Given the description of an element on the screen output the (x, y) to click on. 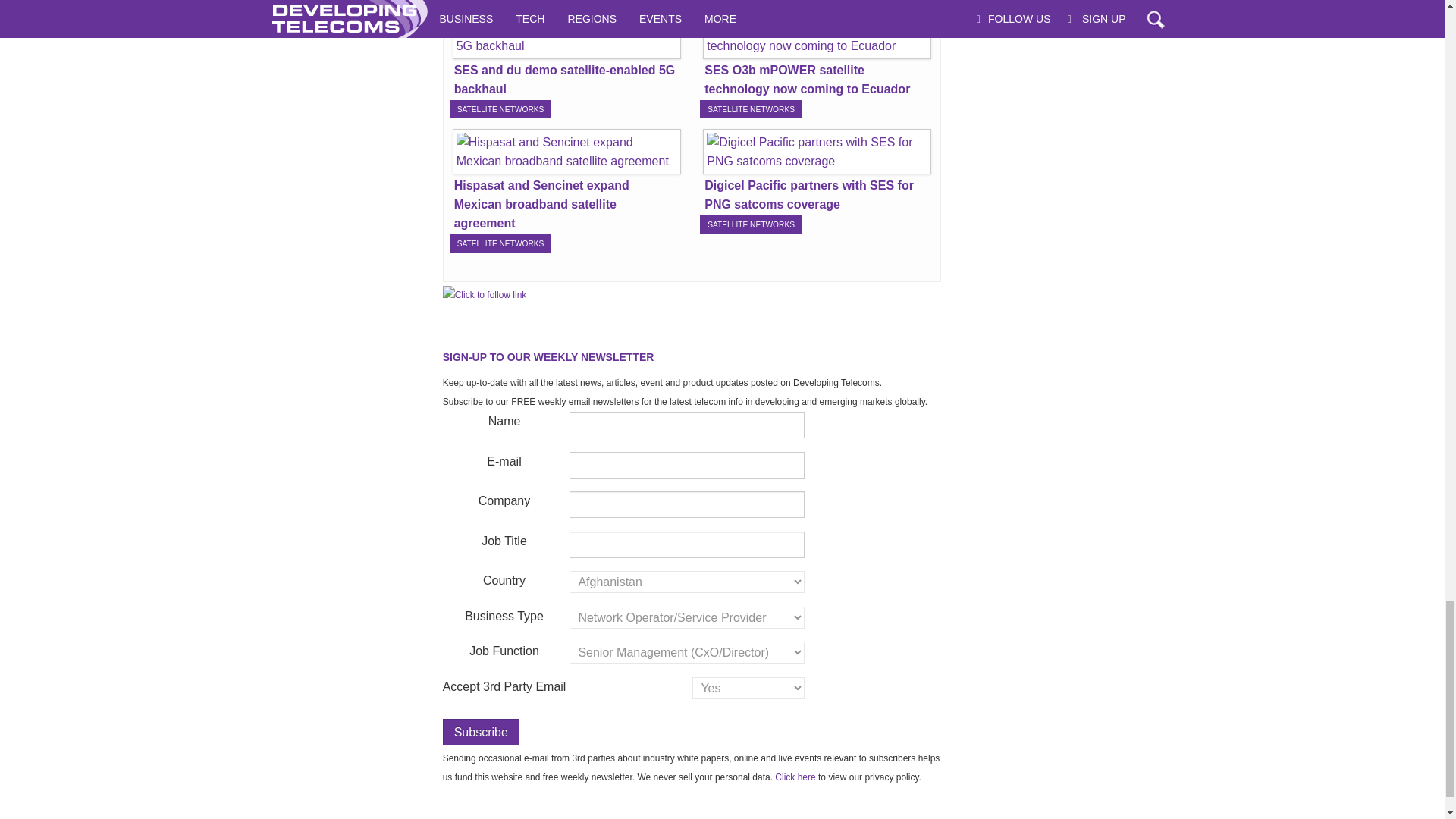
Subscribe (480, 732)
